Given the description of an element on the screen output the (x, y) to click on. 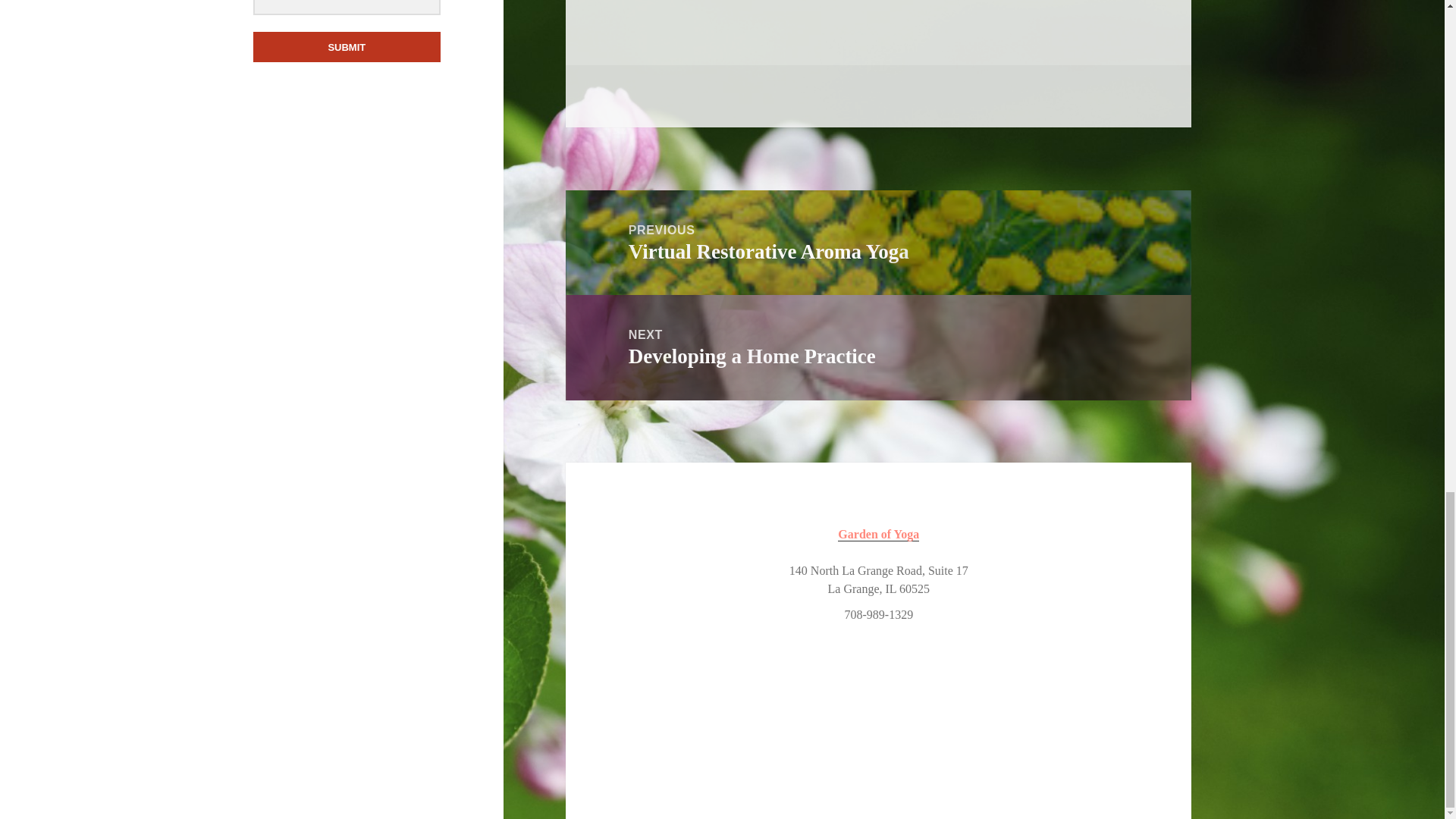
SUBMIT (347, 46)
